Given the description of an element on the screen output the (x, y) to click on. 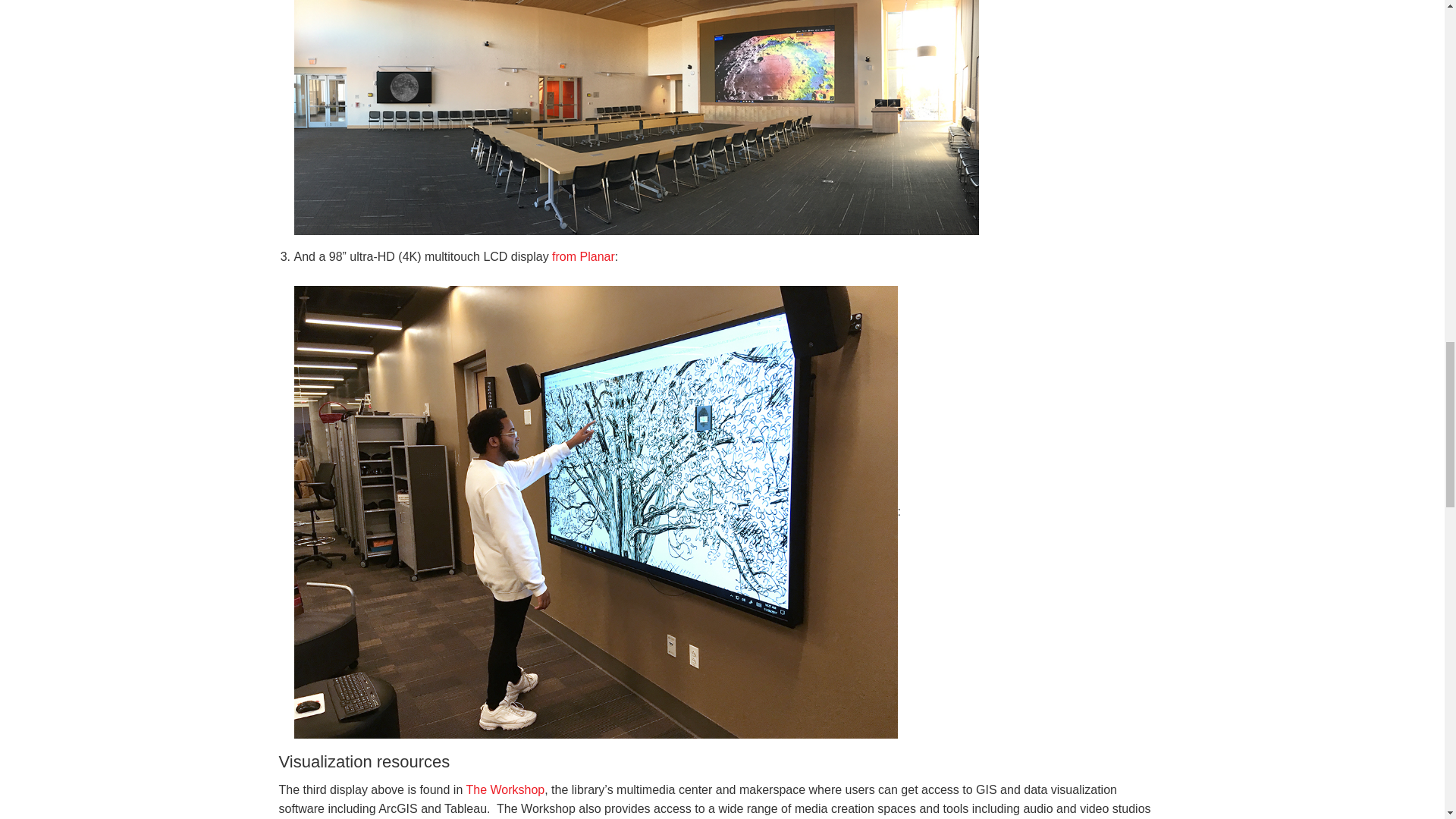
from Planar (582, 256)
The Workshop (504, 789)
